Given the description of an element on the screen output the (x, y) to click on. 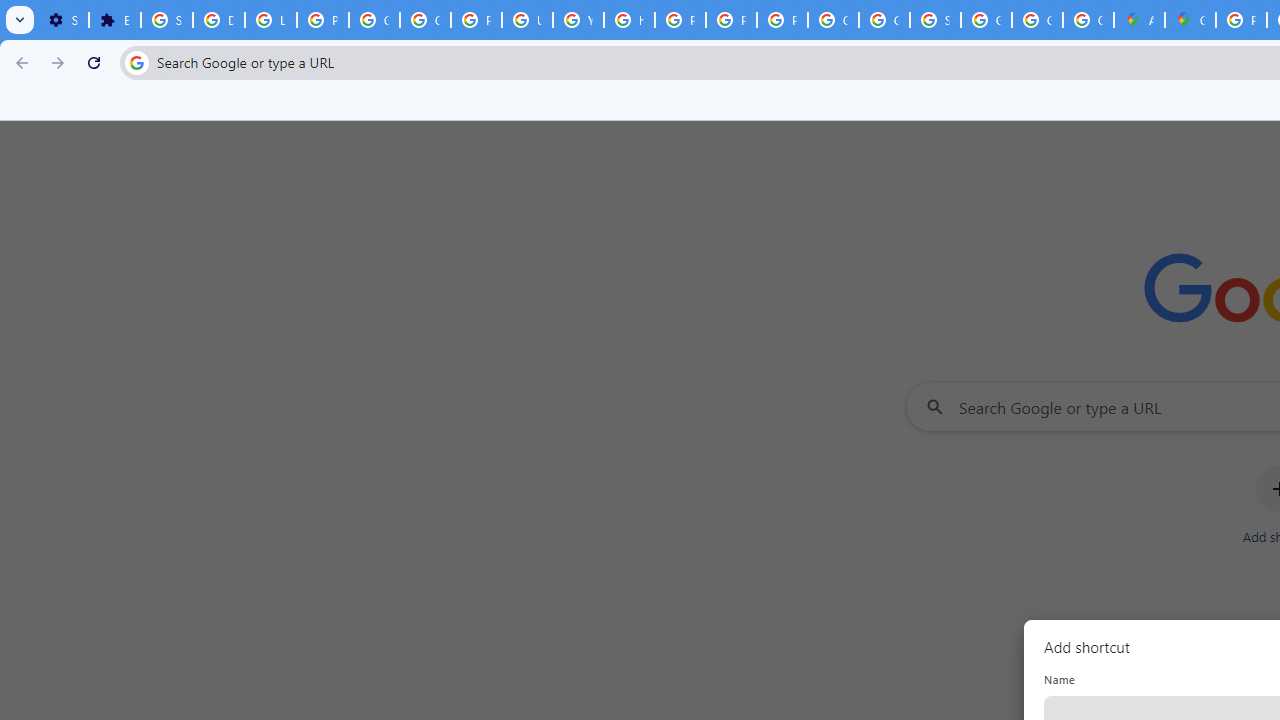
https://scholar.google.com/ (629, 20)
Google Maps (1189, 20)
Settings - On startup (63, 20)
Delete photos & videos - Computer - Google Photos Help (218, 20)
Sign in - Google Accounts (166, 20)
Sign in - Google Accounts (935, 20)
